Given the description of an element on the screen output the (x, y) to click on. 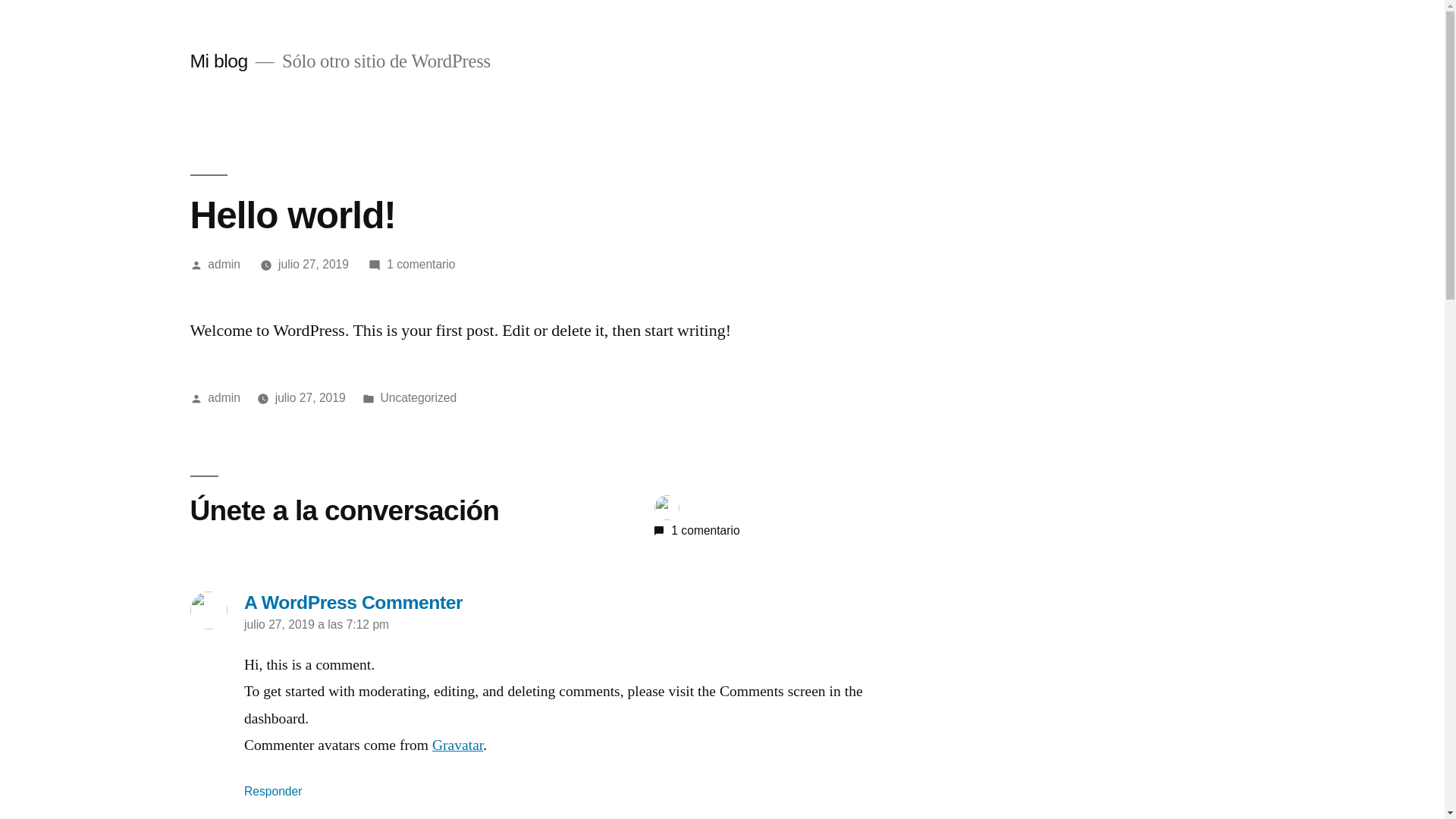
Mi blog Element type: text (218, 60)
Responder Element type: text (272, 791)
A WordPress Commenter
dice: Element type: text (570, 602)
1 comentario
en Hello world! Element type: text (420, 263)
admin Element type: text (223, 397)
admin Element type: text (223, 263)
julio 27, 2019 Element type: text (313, 263)
julio 27, 2019 a las 7:12 pm Element type: text (316, 624)
Uncategorized Element type: text (417, 397)
Gravatar Element type: text (457, 745)
julio 27, 2019 Element type: text (310, 397)
